Given the description of an element on the screen output the (x, y) to click on. 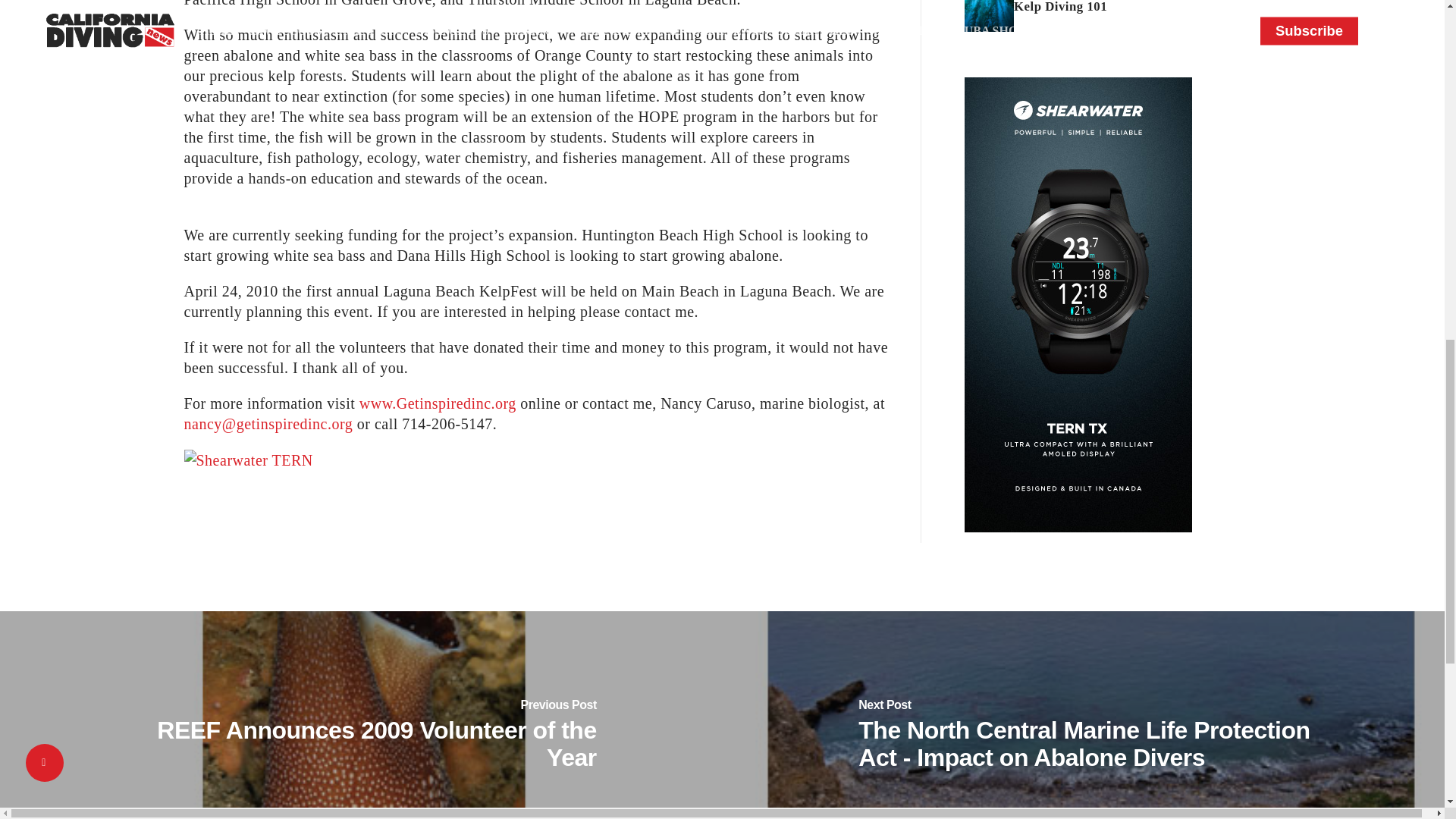
www.Getinspiredinc.org (437, 402)
